Given the description of an element on the screen output the (x, y) to click on. 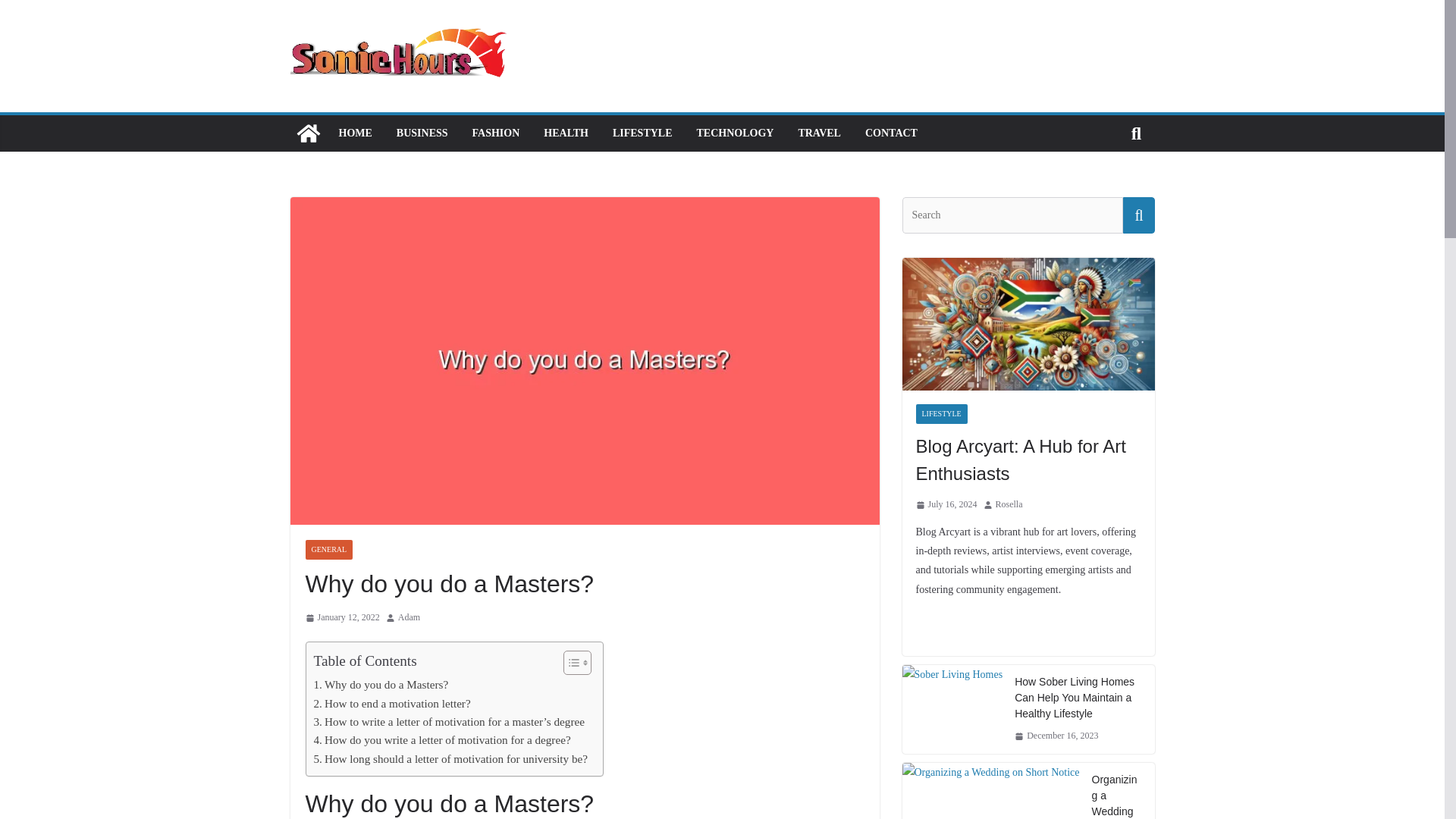
How do you write a letter of motivation for a degree? (442, 740)
HEALTH (565, 133)
FASHION (495, 133)
January 12, 2022 (341, 617)
Why do you do a Masters? (381, 684)
TRAVEL (819, 133)
How to end a motivation letter? (392, 703)
Adam (408, 617)
Why do you do a Masters? (381, 684)
